Given the description of an element on the screen output the (x, y) to click on. 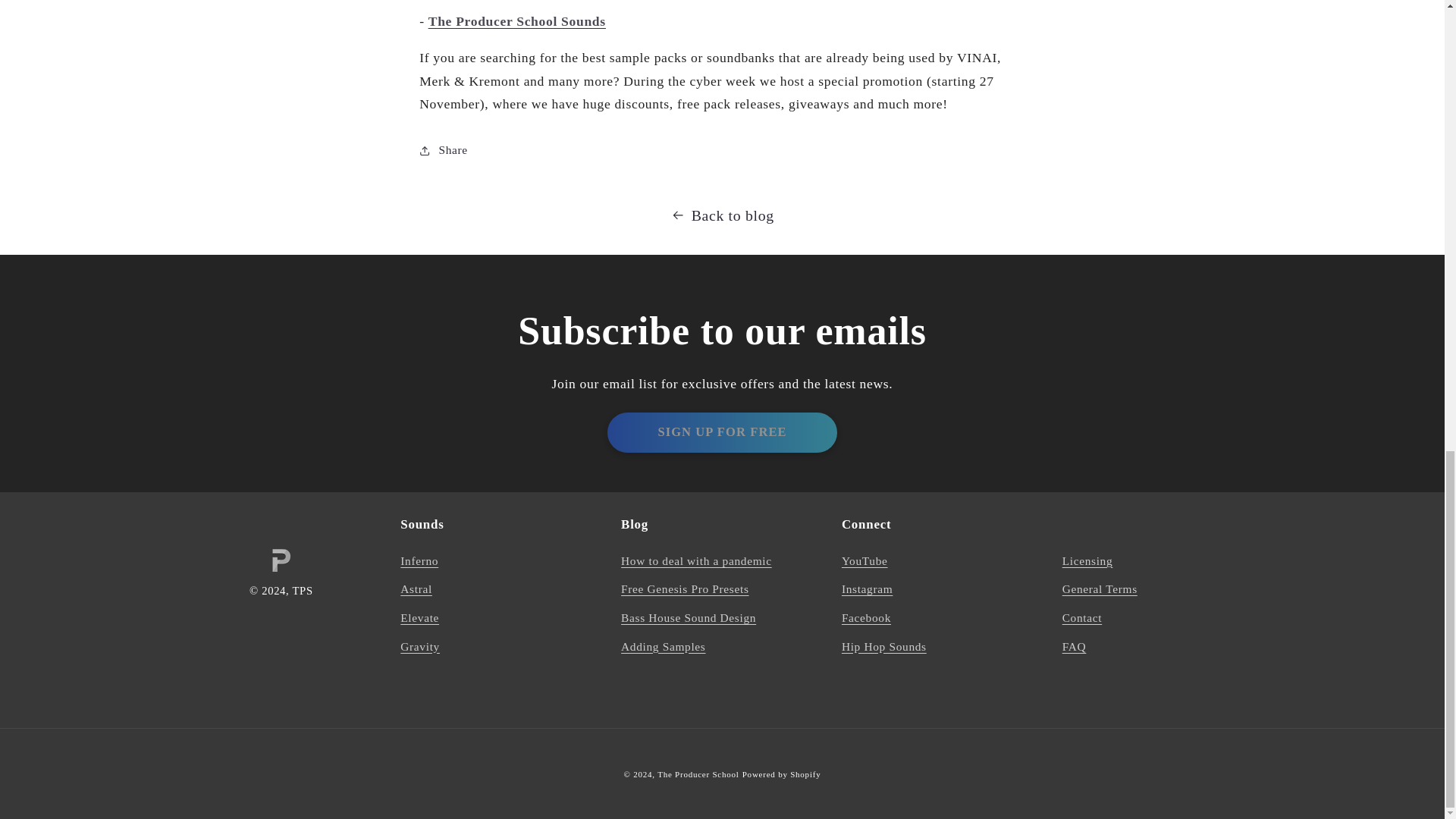
Astral (416, 589)
Gravity (419, 646)
The Producer School Sounds (516, 20)
SIGN UP FOR FREE (721, 432)
Inferno (419, 563)
TPS (302, 590)
How to deal with a pandemic (696, 563)
Elevate (419, 618)
